Given the description of an element on the screen output the (x, y) to click on. 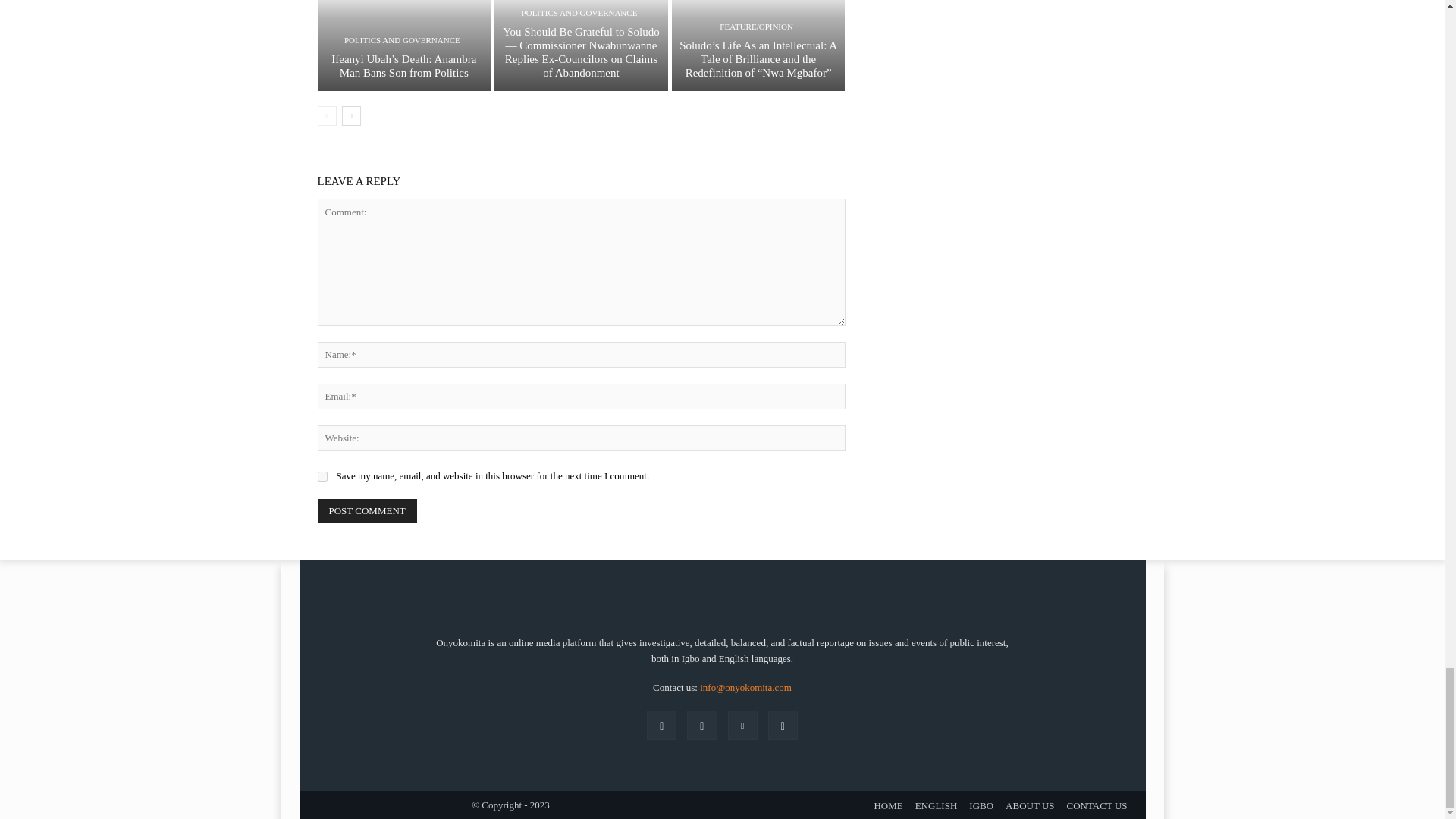
Post Comment (366, 510)
yes (321, 476)
